Given the description of an element on the screen output the (x, y) to click on. 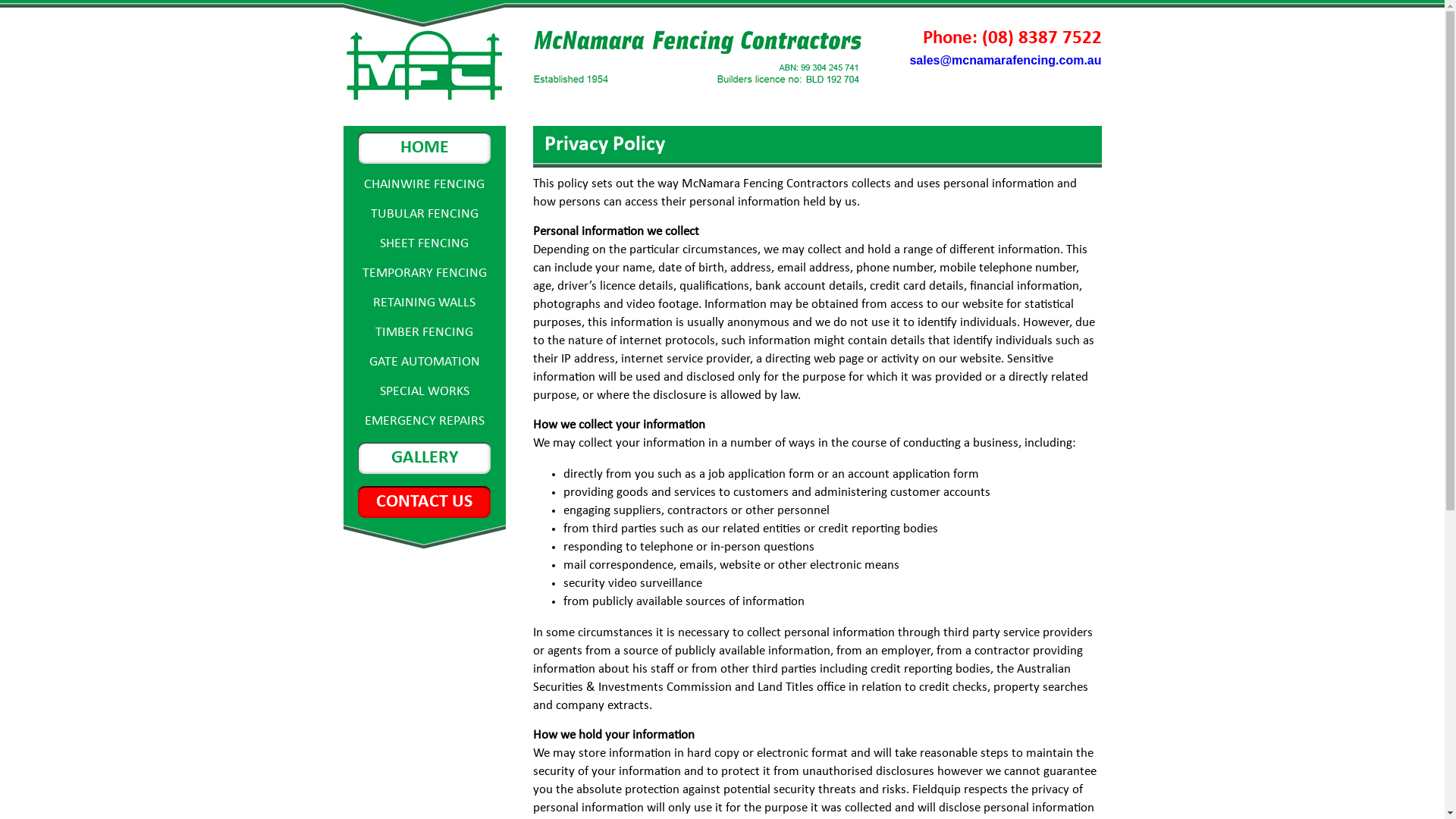
TUBULAR FENCING Element type: text (423, 214)
TEMPORARY FENCING Element type: text (424, 273)
GALLERY Element type: text (423, 457)
sales@mcnamarafencing.com.au Element type: text (1005, 59)
GATE AUTOMATION Element type: text (423, 361)
TIMBER FENCING Element type: text (424, 332)
CHAINWIRE FENCING Element type: text (424, 184)
HOME Element type: text (423, 147)
EMERGENCY REPAIRS Element type: text (423, 421)
SPECIAL WORKS Element type: text (423, 391)
SHEET FENCING Element type: text (423, 243)
RETAINING WALLS Element type: text (424, 302)
CONTACT US Element type: text (423, 501)
